Given the description of an element on the screen output the (x, y) to click on. 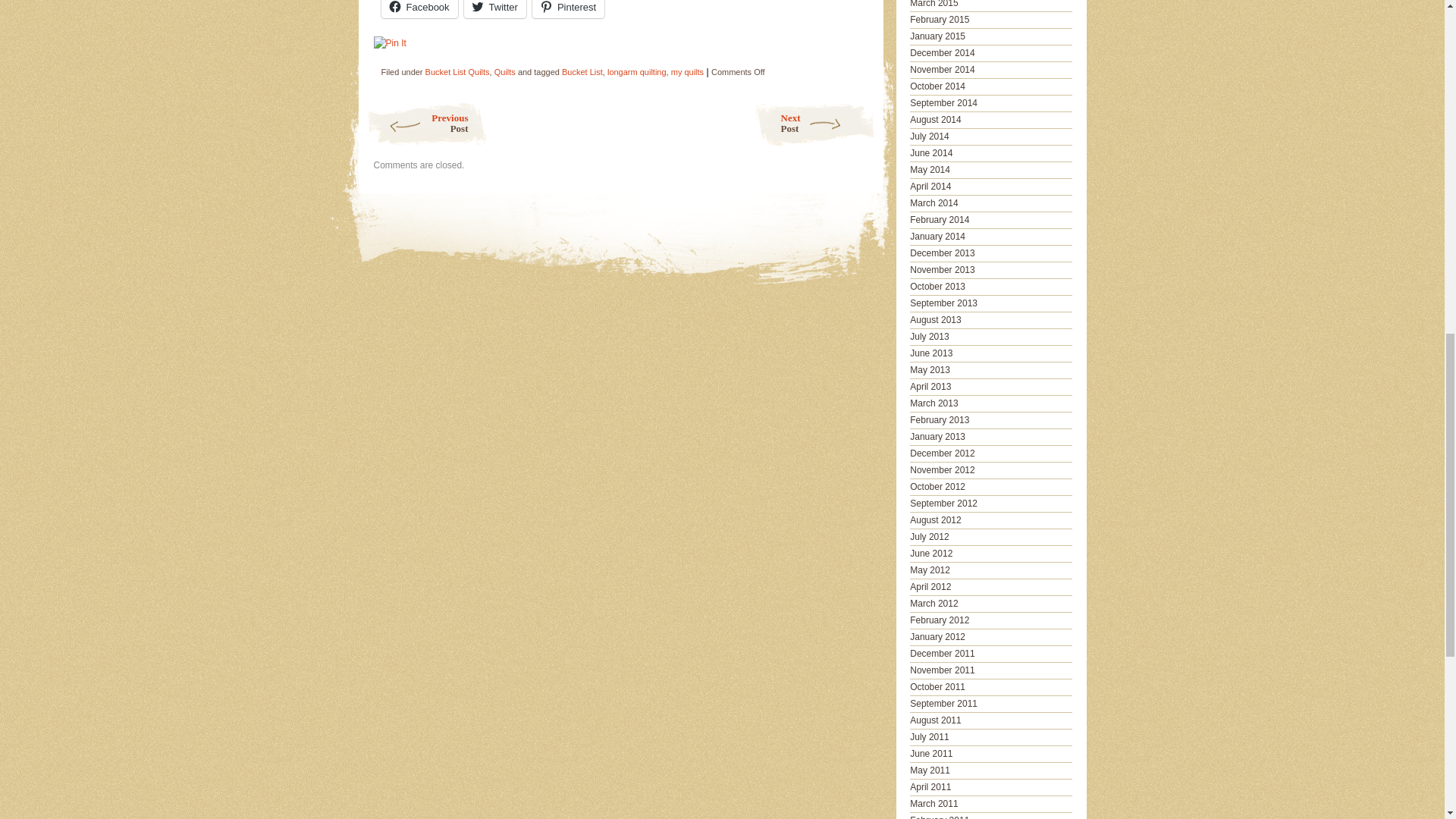
my quilts (687, 71)
Click to share on Facebook (418, 9)
Pin It (389, 42)
Pinterest (568, 9)
Bucket List (814, 124)
Quilts (582, 71)
longarm quilting (505, 71)
Twitter (636, 71)
Click to share on Twitter (494, 9)
Facebook (494, 9)
Bucket List Quilts (425, 124)
Click to share on Pinterest (418, 9)
